Given the description of an element on the screen output the (x, y) to click on. 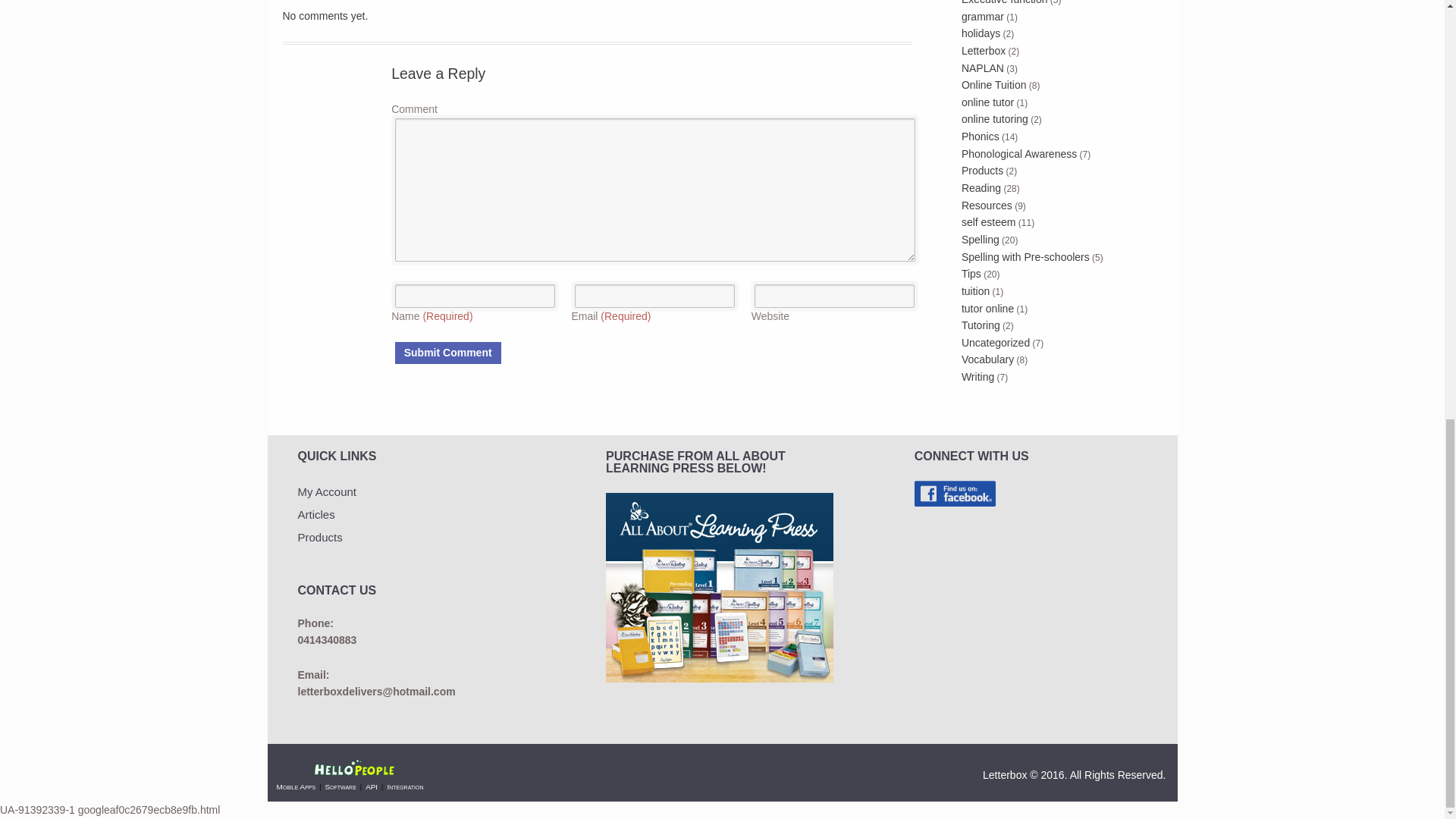
Executive function (1004, 2)
Submit Comment (447, 352)
Software and App Developer (355, 769)
grammar (982, 16)
software developer (339, 786)
holidays (980, 33)
Submit Comment (447, 352)
mobile app developer (295, 786)
